Given the description of an element on the screen output the (x, y) to click on. 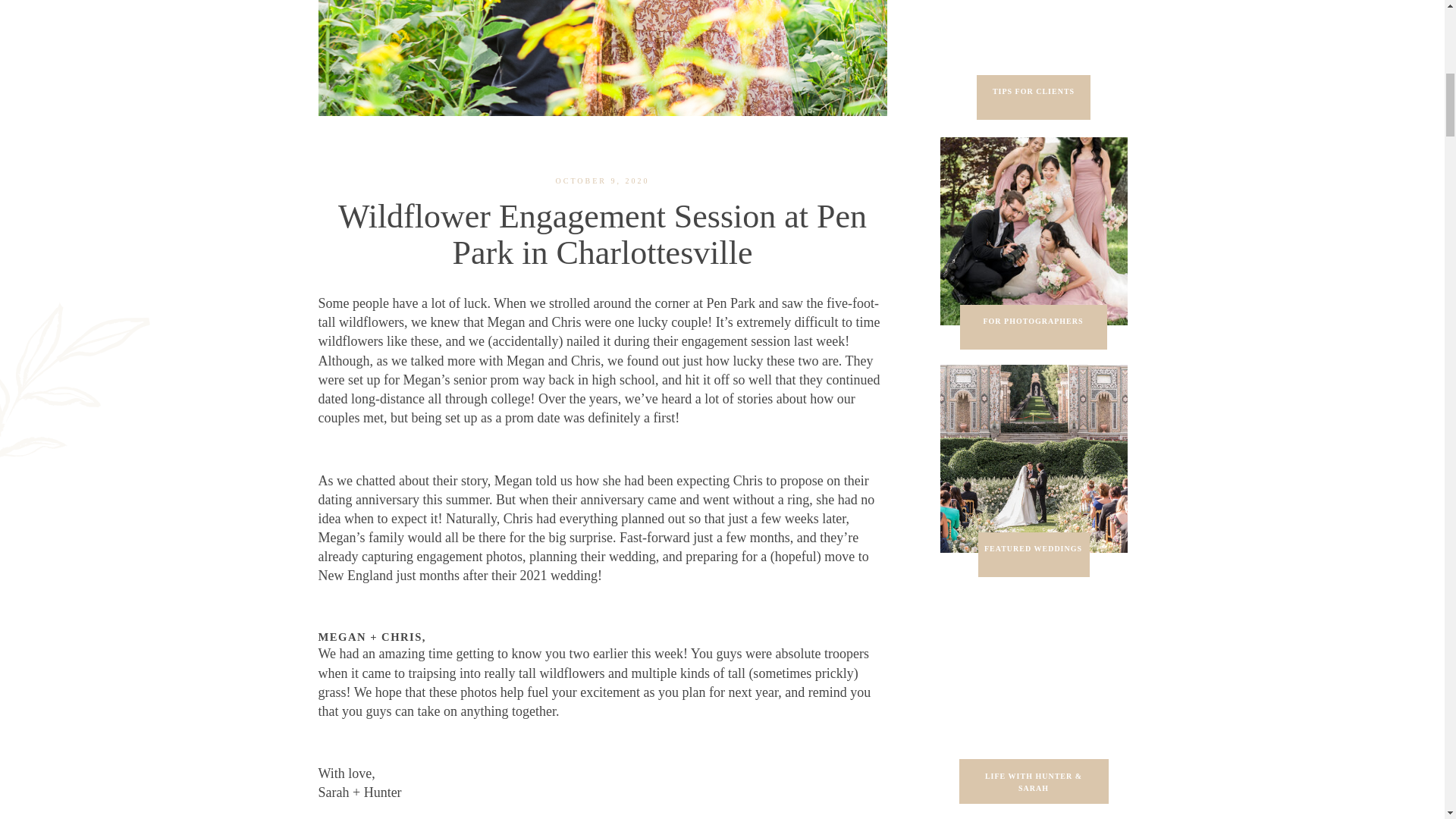
FOR PHOTOGRAPHERS (1033, 327)
TIPS FOR CLIENTS (1033, 97)
FEATURED WEDDINGS (1032, 555)
